Given the description of an element on the screen output the (x, y) to click on. 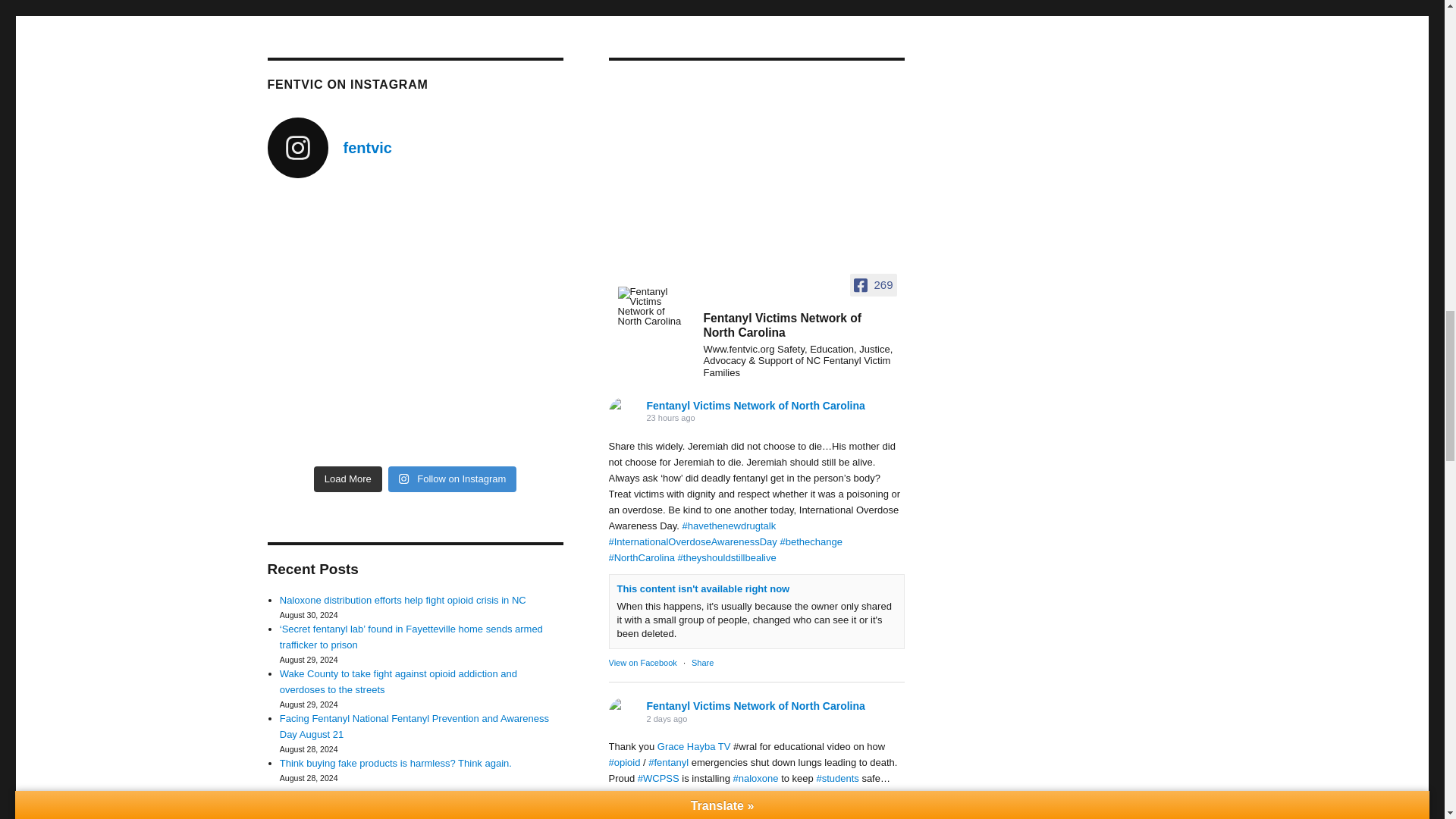
Fentanyl Victims Network of North Carolina (623, 412)
Fentanyl Victims Network of North Carolina (803, 327)
Share (702, 662)
Fentanyl Victims Network of North Carolina (623, 712)
View on Facebook (642, 662)
Fentanyl Victims Network of North Carolina (653, 306)
